Given the description of an element on the screen output the (x, y) to click on. 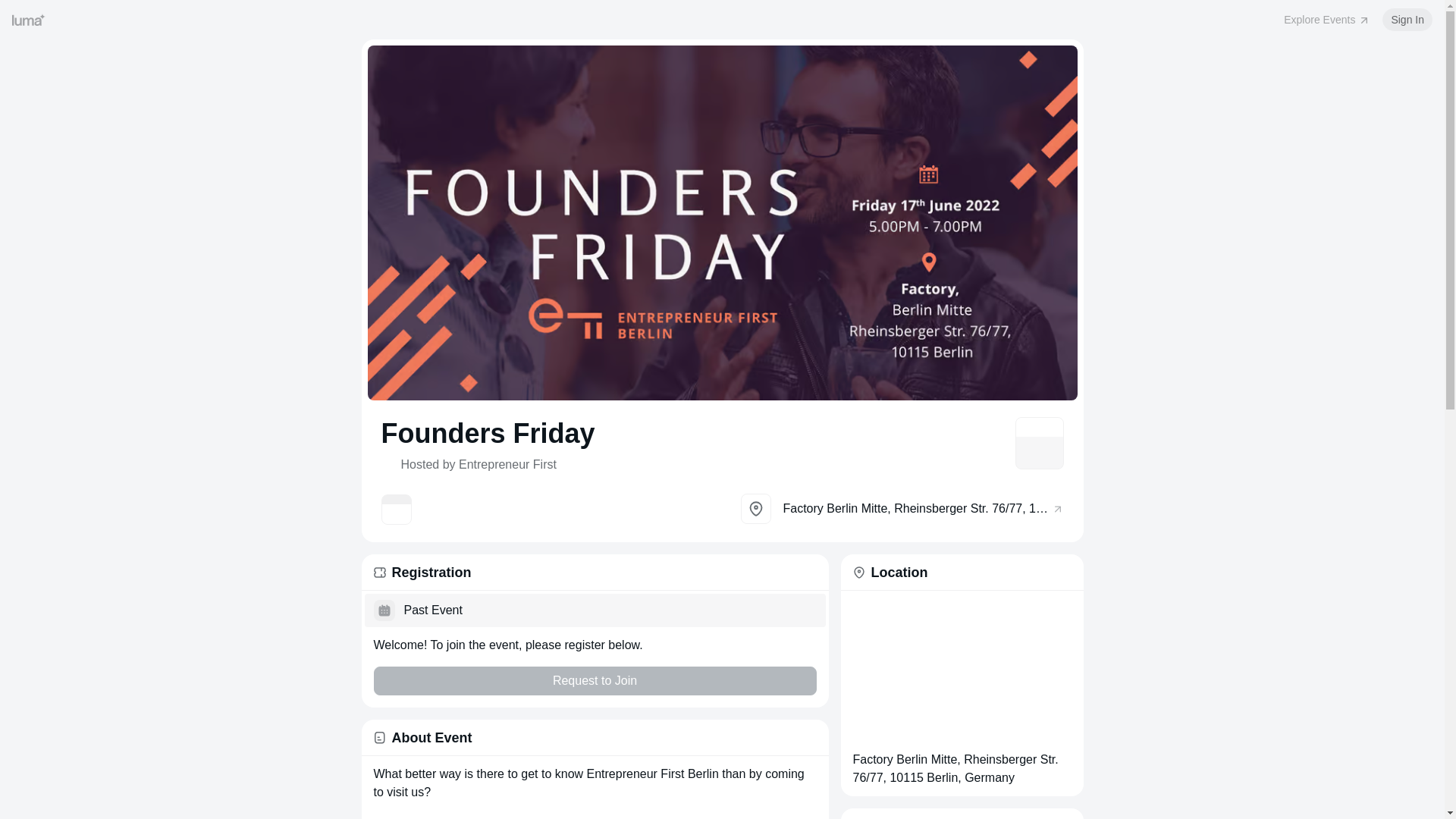
Sign In (1406, 19)
Request to Join (593, 680)
Explore Events (1327, 19)
